Given the description of an element on the screen output the (x, y) to click on. 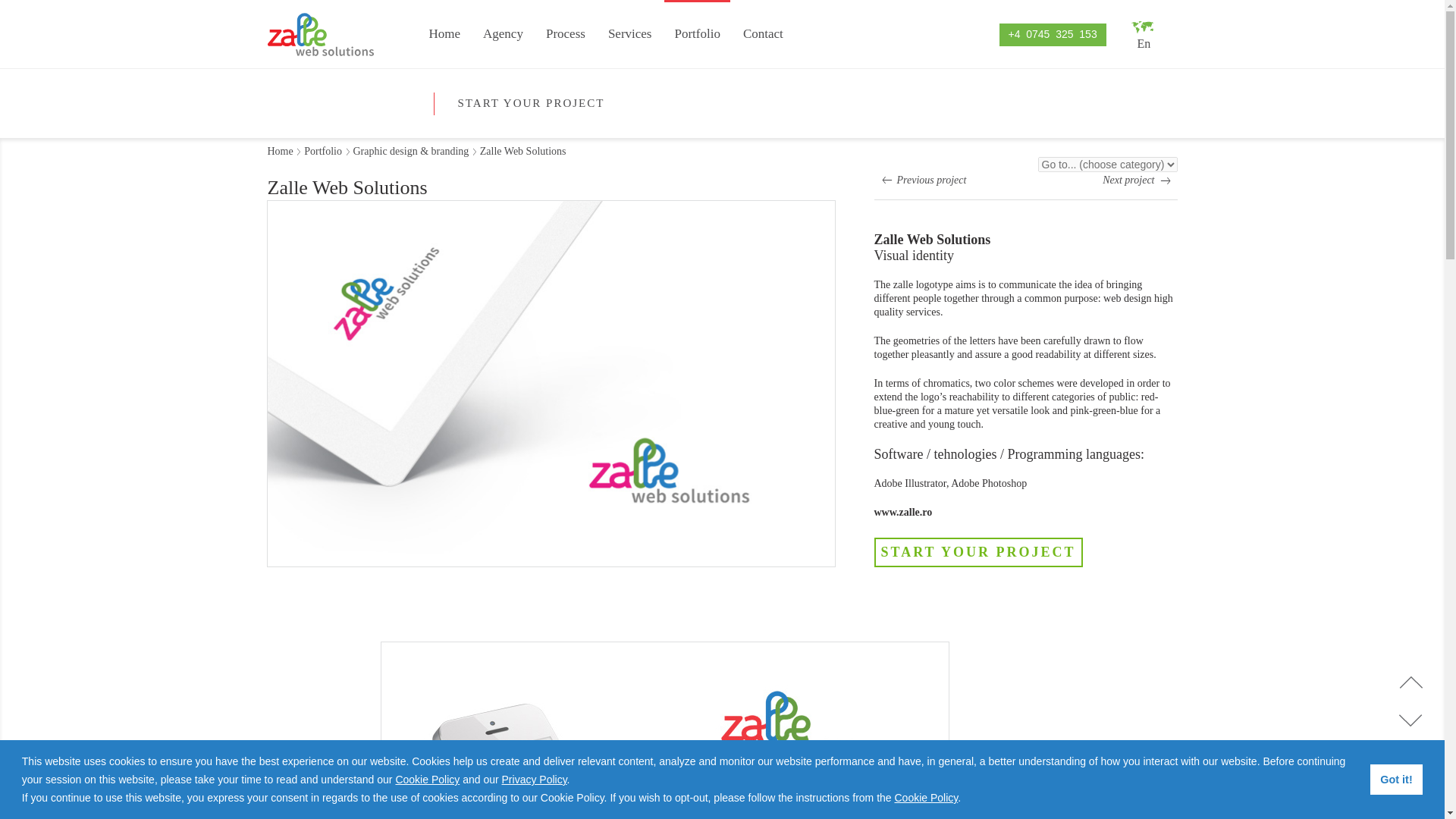
Privacy Policy (534, 779)
Got it! (1396, 779)
START YOUR PROJECT (530, 104)
Agency (502, 35)
Portfolio (323, 151)
Services (630, 35)
Contact (763, 35)
Portfolio (696, 34)
zallerosu.svg (319, 34)
START YOUR PROJECT (977, 552)
Cookie Policy (427, 779)
Previous project (920, 180)
Next project (1139, 180)
Home (279, 151)
www.zalle.ro (902, 511)
